Given the description of an element on the screen output the (x, y) to click on. 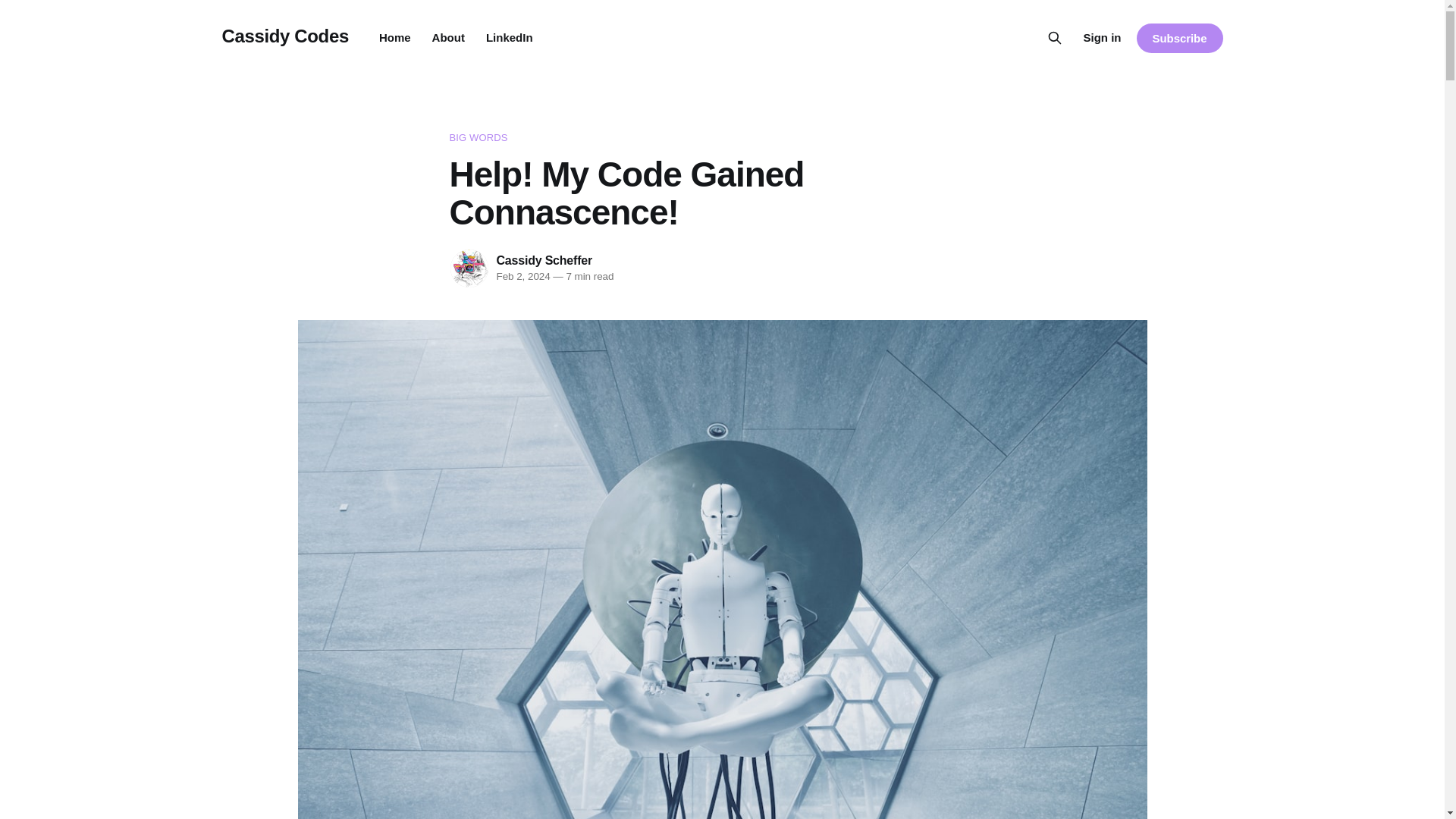
Cassidy Codes (284, 35)
Home (394, 37)
About (448, 37)
BIG WORDS (721, 138)
Sign in (1102, 37)
Cassidy Scheffer (544, 259)
Subscribe (1179, 37)
LinkedIn (509, 37)
